Given the description of an element on the screen output the (x, y) to click on. 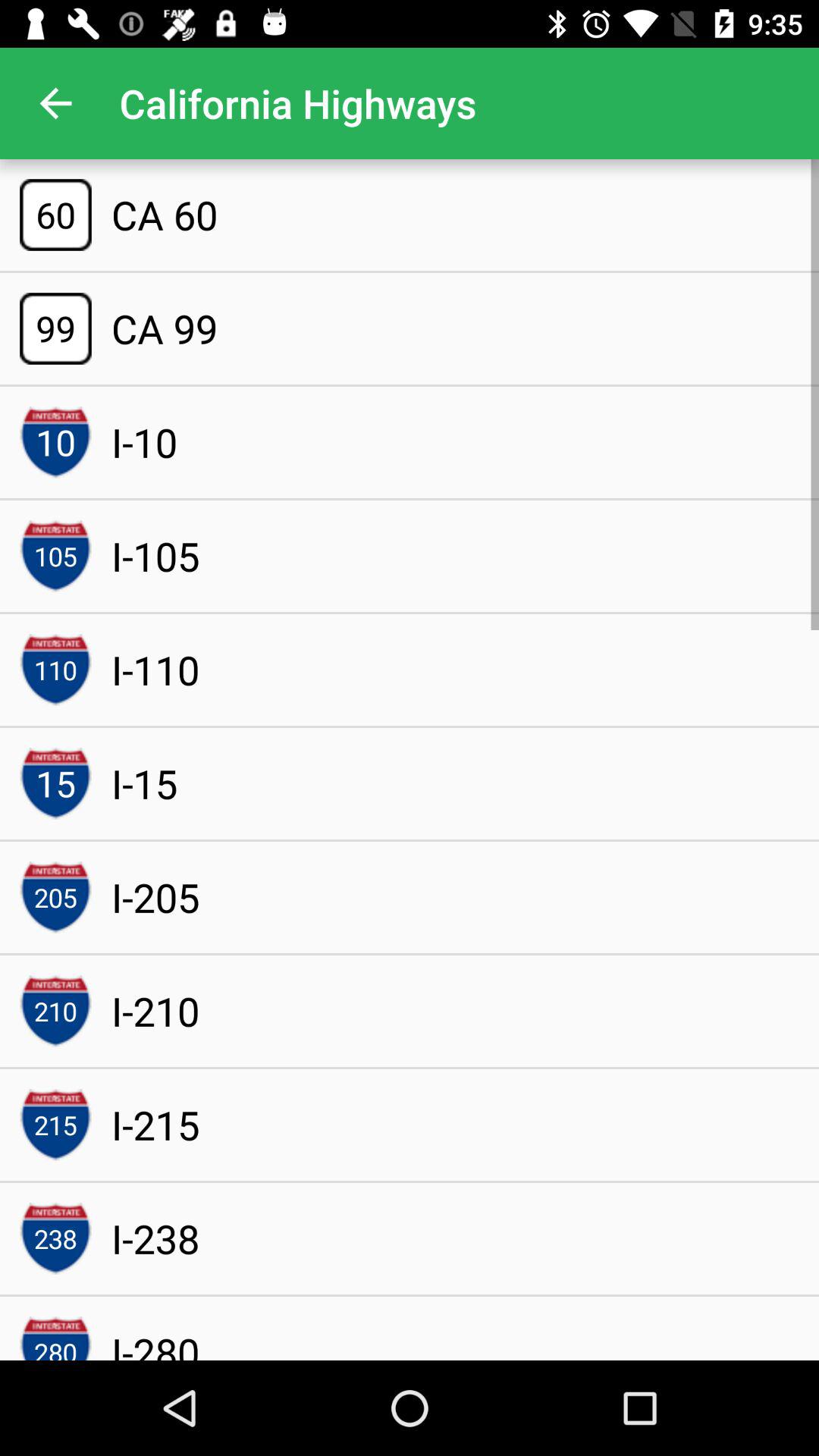
turn on item below the ca 99 (144, 441)
